Given the description of an element on the screen output the (x, y) to click on. 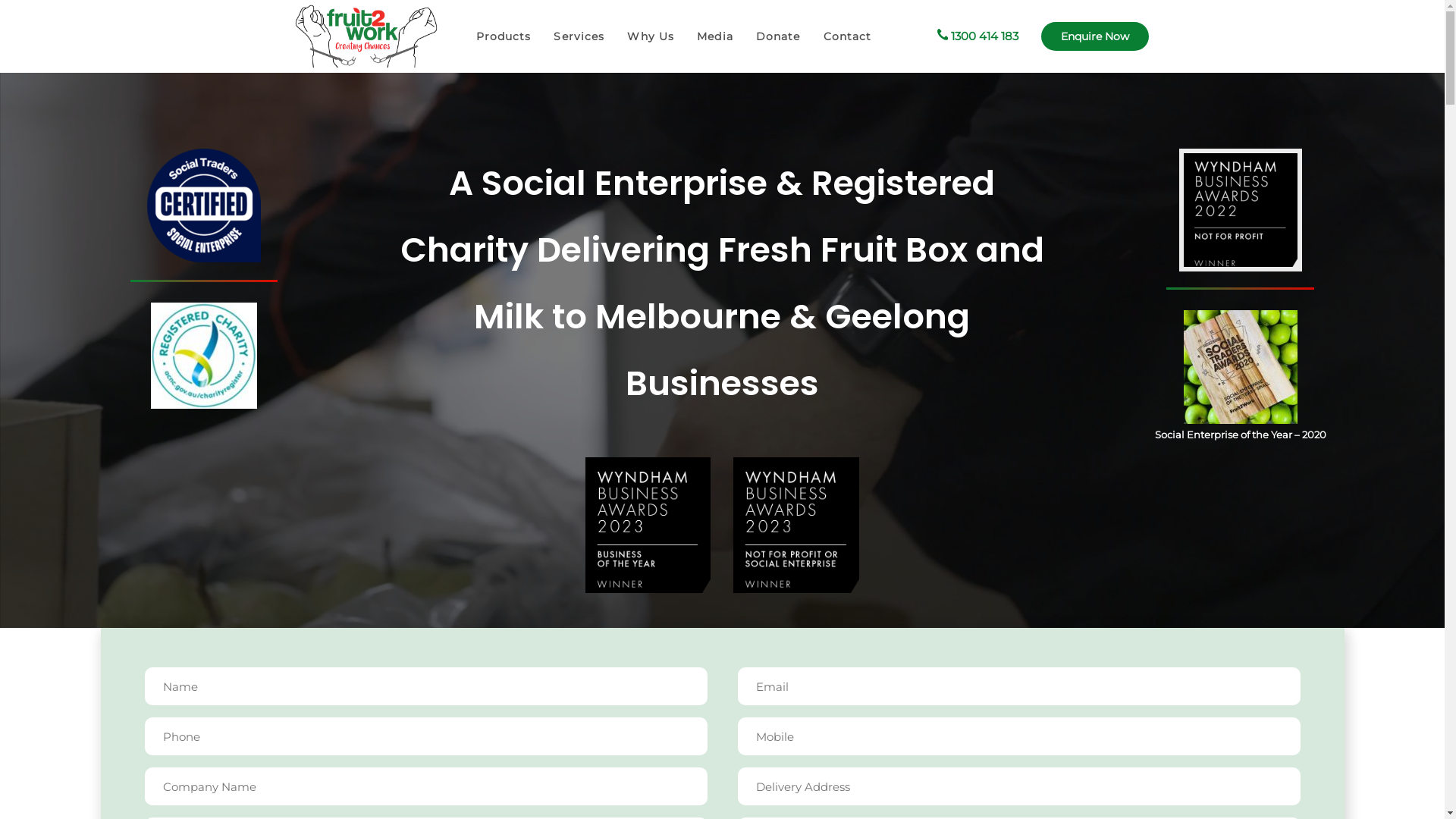
Enquire Now Element type: text (1094, 36)
Why Us Element type: text (650, 36)
Products Element type: text (503, 36)
Media Element type: text (714, 36)
Contact Element type: text (847, 36)
1300 414 183 Element type: text (978, 35)
Donate Element type: text (778, 36)
charity logo bigger Element type: hover (203, 355)
Services Element type: text (578, 36)
